Given the description of an element on the screen output the (x, y) to click on. 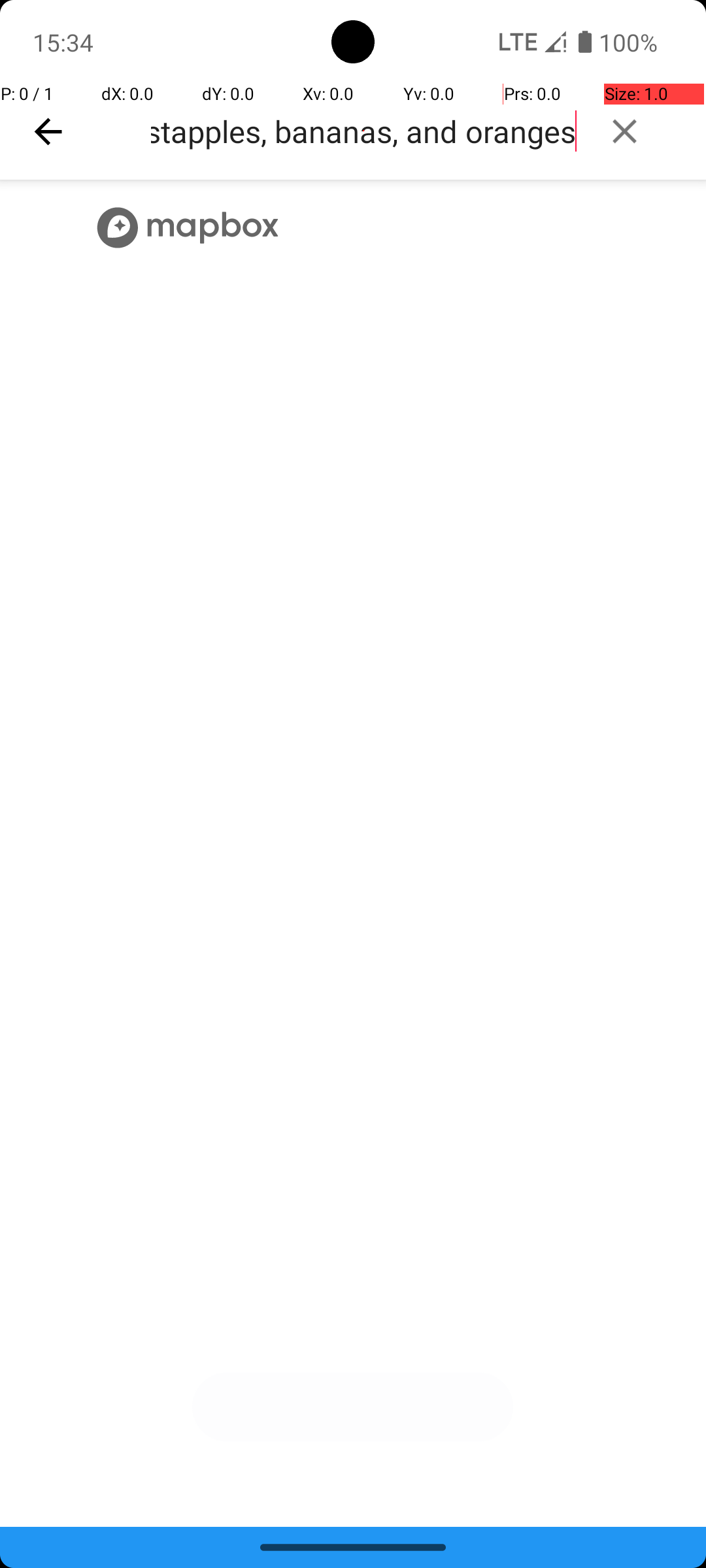
grocery listapples, bananas, and oranges Element type: android.widget.AutoCompleteTextView (363, 130)
